Given the description of an element on the screen output the (x, y) to click on. 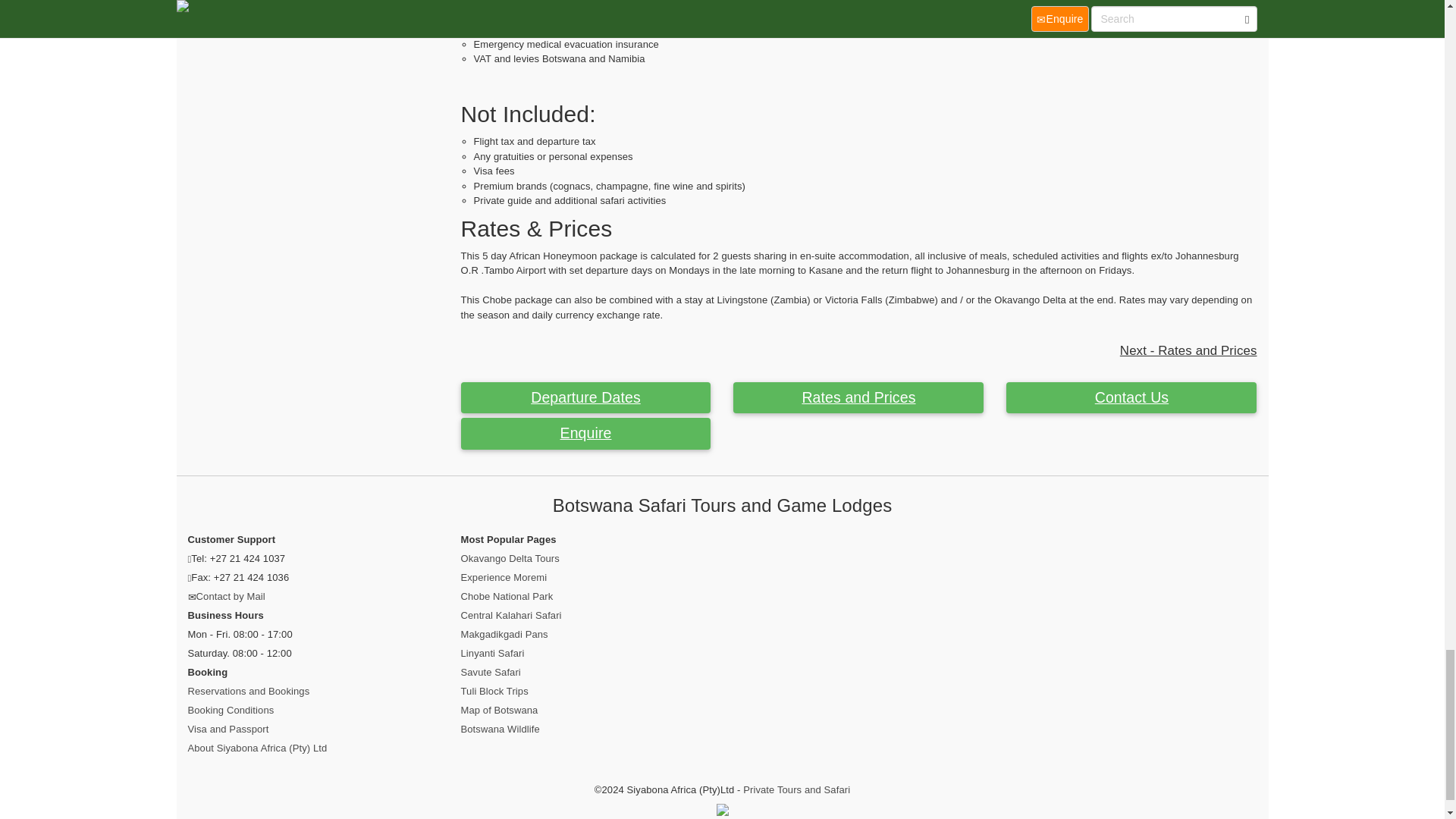
Departure Dates (586, 398)
Request Booking (586, 433)
Next - Rates and Prices (1188, 350)
Ask a Question (1131, 398)
Rates and Prices (858, 398)
Departure Dates (586, 398)
